Given the description of an element on the screen output the (x, y) to click on. 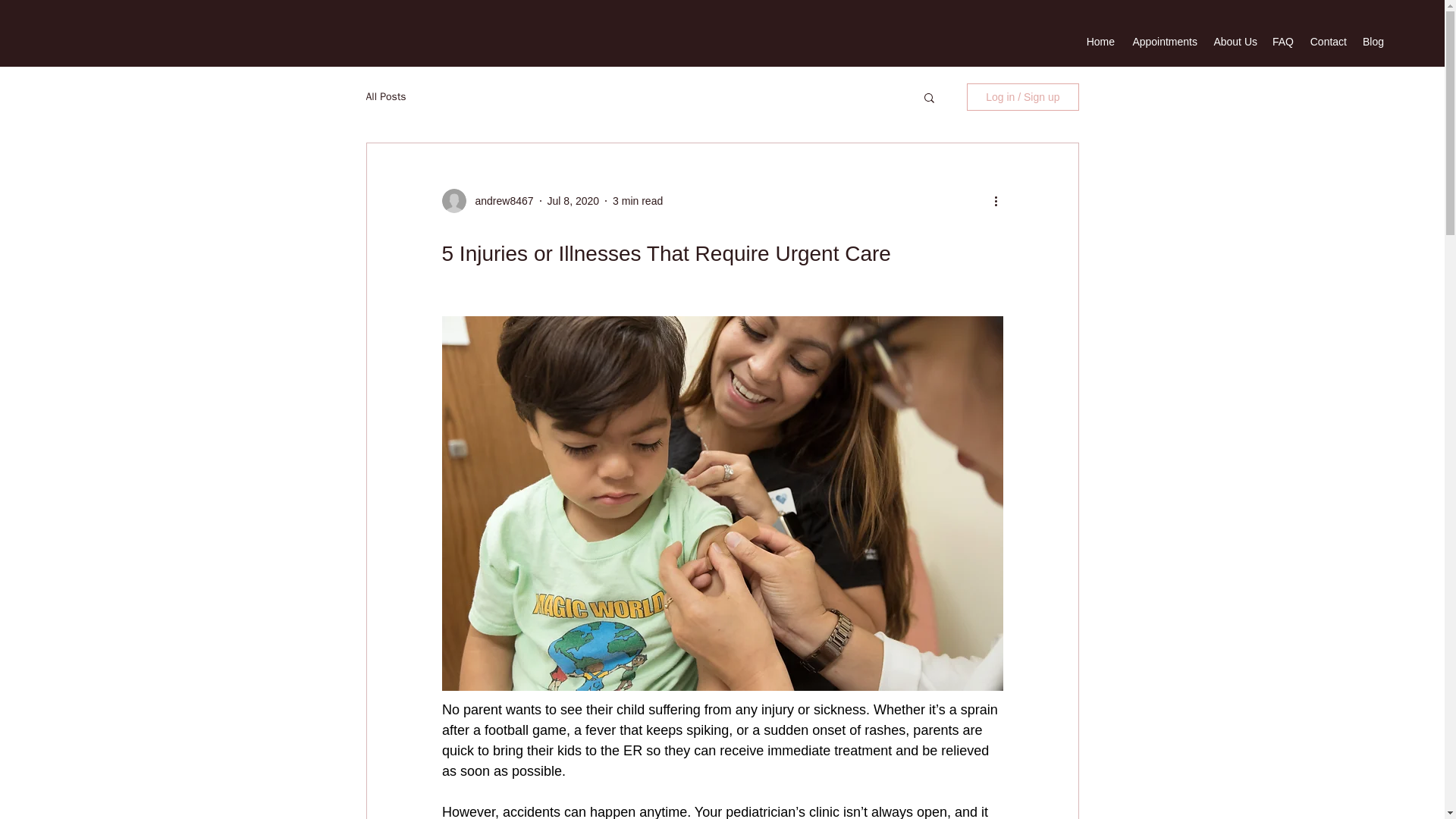
3 min read (637, 200)
Jul 8, 2020 (573, 200)
Blog (1372, 41)
About Us (1235, 41)
All Posts (385, 97)
Home (1100, 41)
andrew8467 (498, 200)
Contact (1327, 41)
FAQ (1283, 41)
Appointments (1163, 41)
